Given the description of an element on the screen output the (x, y) to click on. 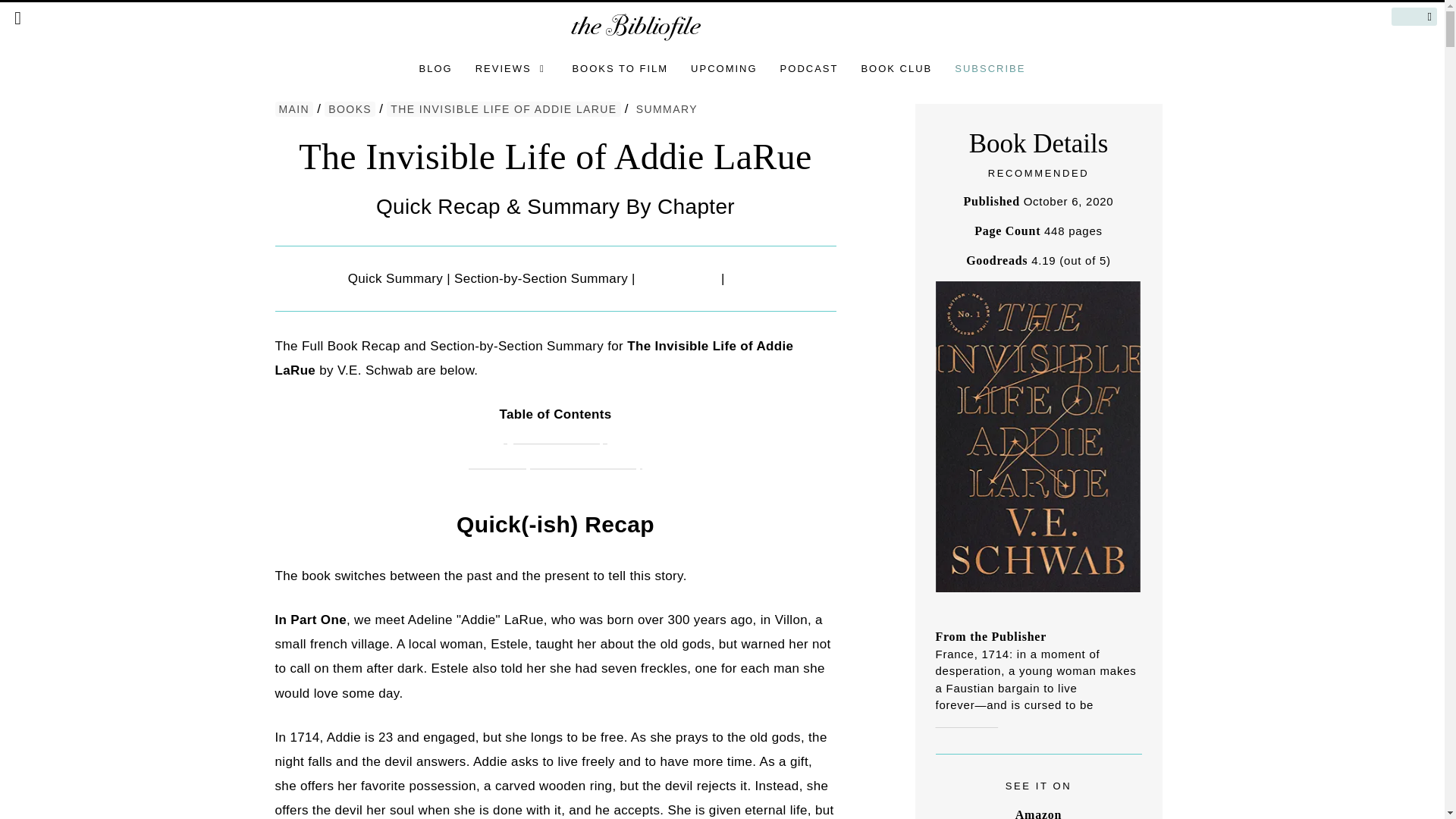
BLOG (435, 68)
BOOKS TO FILM (620, 68)
REVIEWS (513, 68)
UPCOMING (723, 68)
PODCAST (809, 68)
SUBSCRIBE (990, 68)
BOOK CLUB (895, 68)
